Given the description of an element on the screen output the (x, y) to click on. 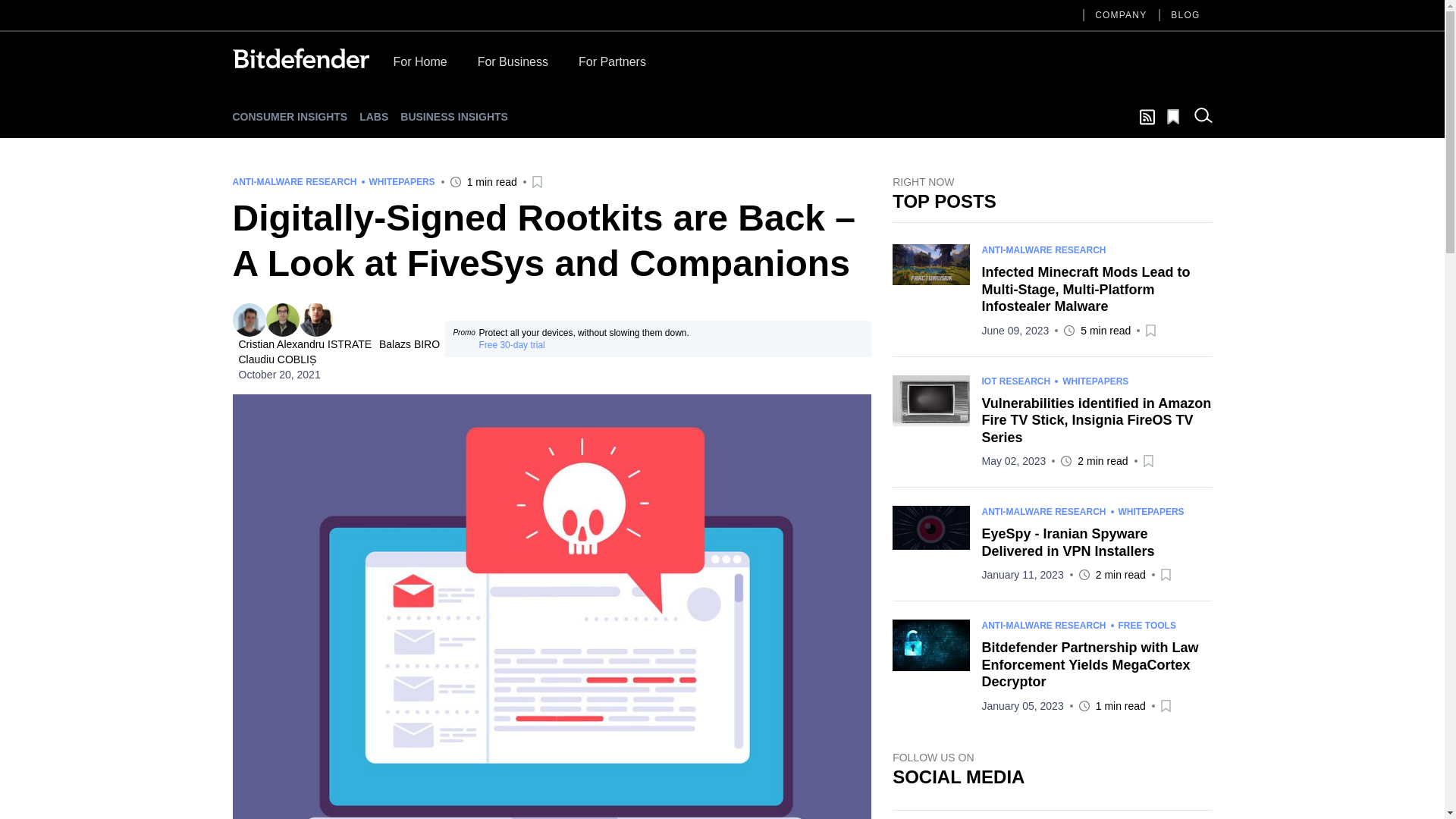
For Home (419, 64)
Free 30-day trial (511, 344)
Bitdefender (299, 57)
For Home (419, 64)
Labs (373, 116)
Whitepapers (400, 182)
Cristian Alexandru ISTRATE (306, 344)
Cristian Alexandru ISTRATE (247, 319)
BLOG (1184, 15)
For Partners (612, 64)
